Given the description of an element on the screen output the (x, y) to click on. 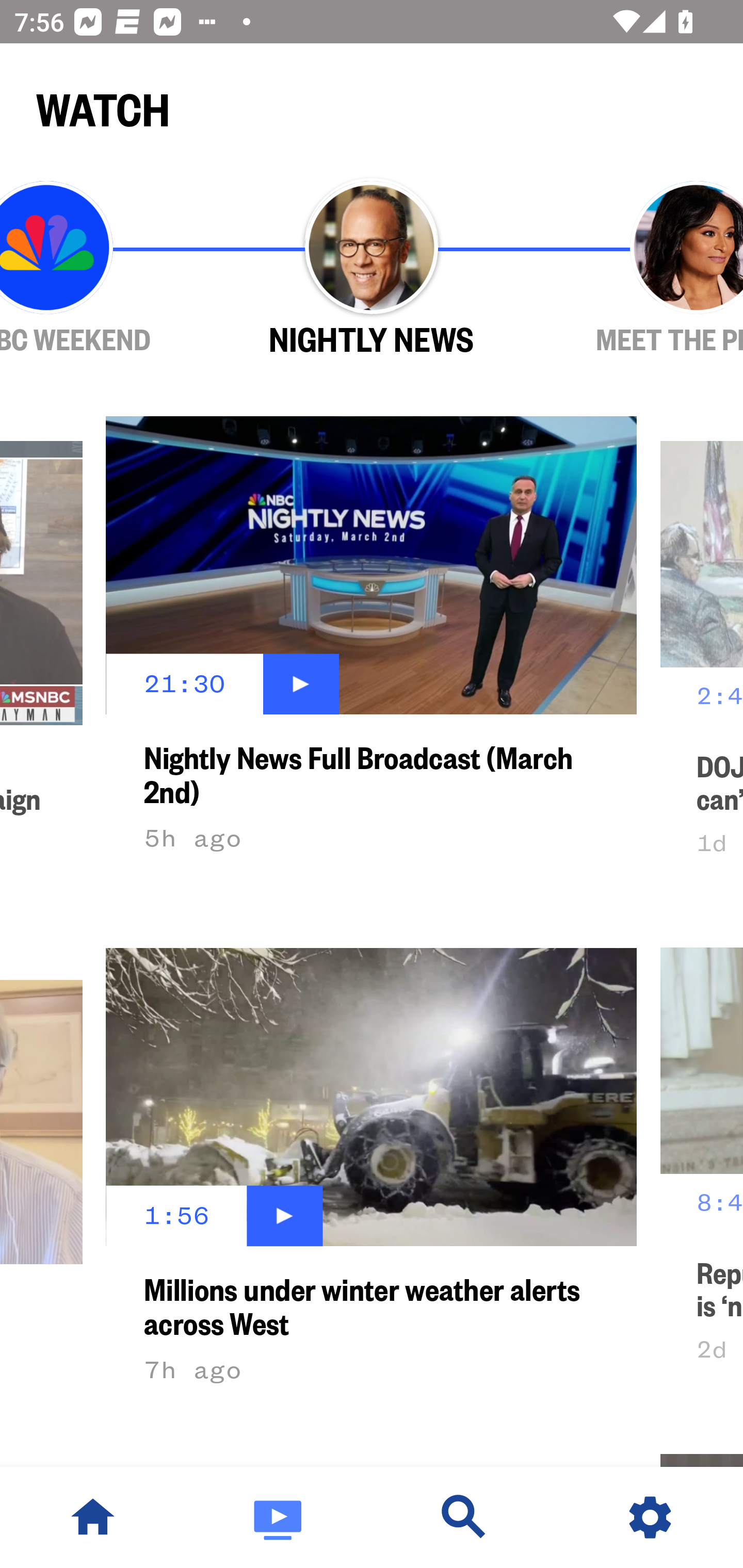
MSNBC WEEKEND (104, 268)
NIGHTLY NEWS (371, 268)
MEET THE PRESS (638, 268)
NBC News Home (92, 1517)
Discover (464, 1517)
Settings (650, 1517)
